Given the description of an element on the screen output the (x, y) to click on. 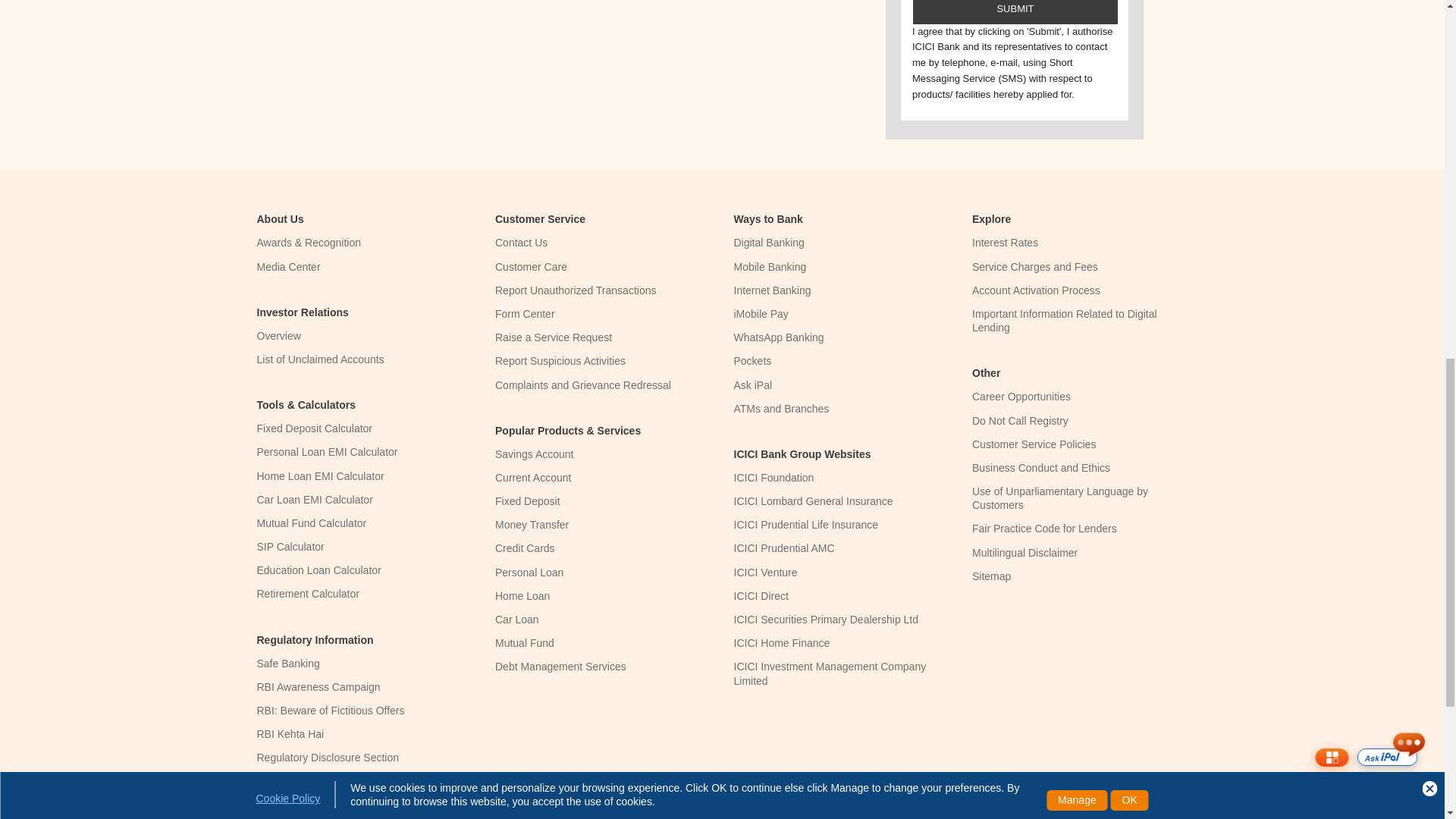
Fixed Deposit Calculator (314, 428)
Car Loan EMI Calculator (314, 499)
Media Center (288, 266)
Personal Loan EMI Calculator (326, 451)
Overview (277, 336)
Mutual Fund Calculator (311, 522)
List of Unclaimed Accounts (320, 358)
Home Loan EMI Calculator (320, 476)
SIP Calculator (289, 546)
